Given the description of an element on the screen output the (x, y) to click on. 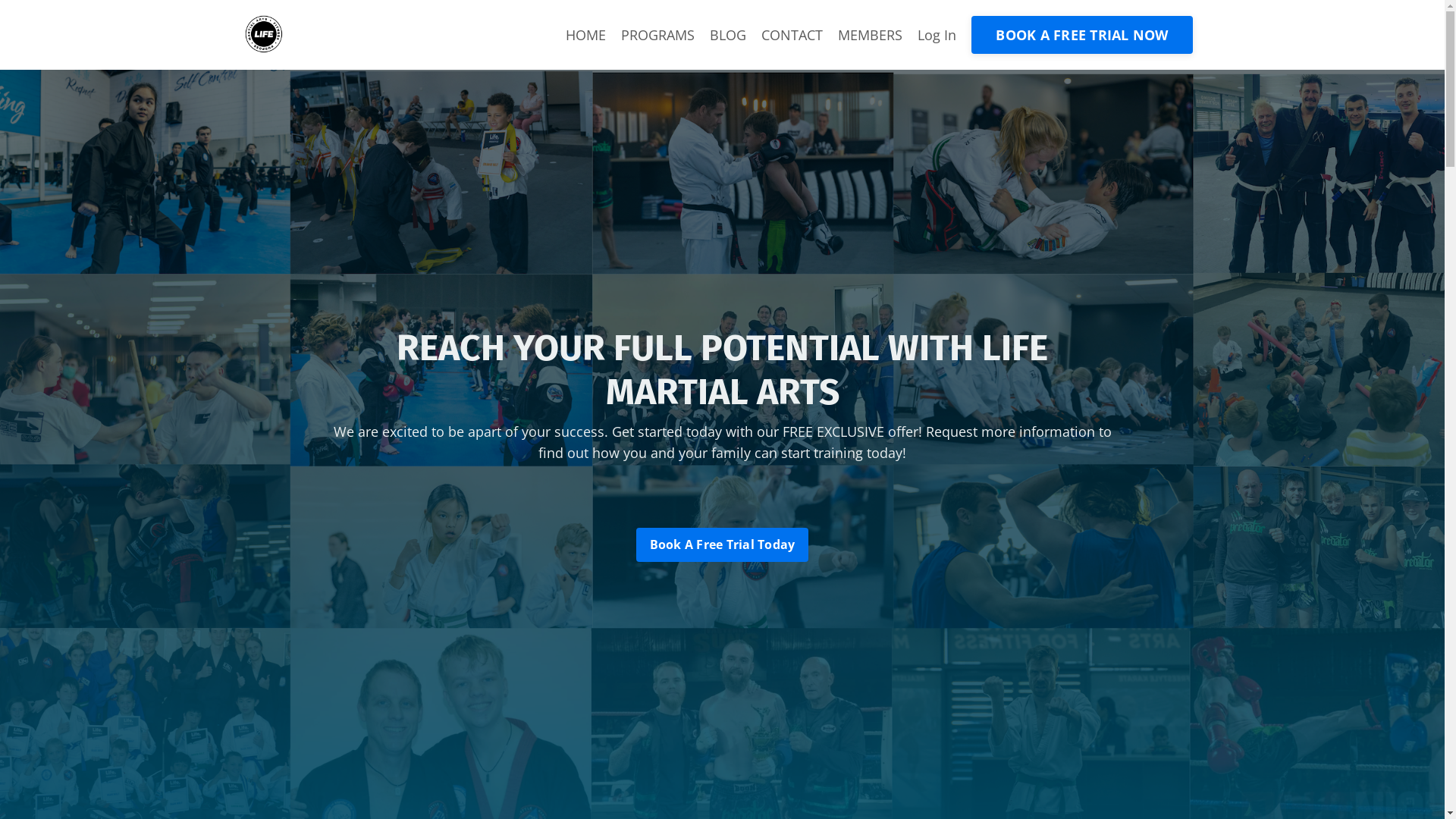
PROGRAMS Element type: text (657, 35)
BLOG Element type: text (727, 35)
Book A Free Trial Today Element type: text (722, 544)
HOME Element type: text (585, 35)
CONTACT Element type: text (791, 35)
BOOK A FREE TRIAL NOW Element type: text (1081, 34)
Log In Element type: text (936, 34)
MEMBERS Element type: text (869, 35)
